Given the description of an element on the screen output the (x, y) to click on. 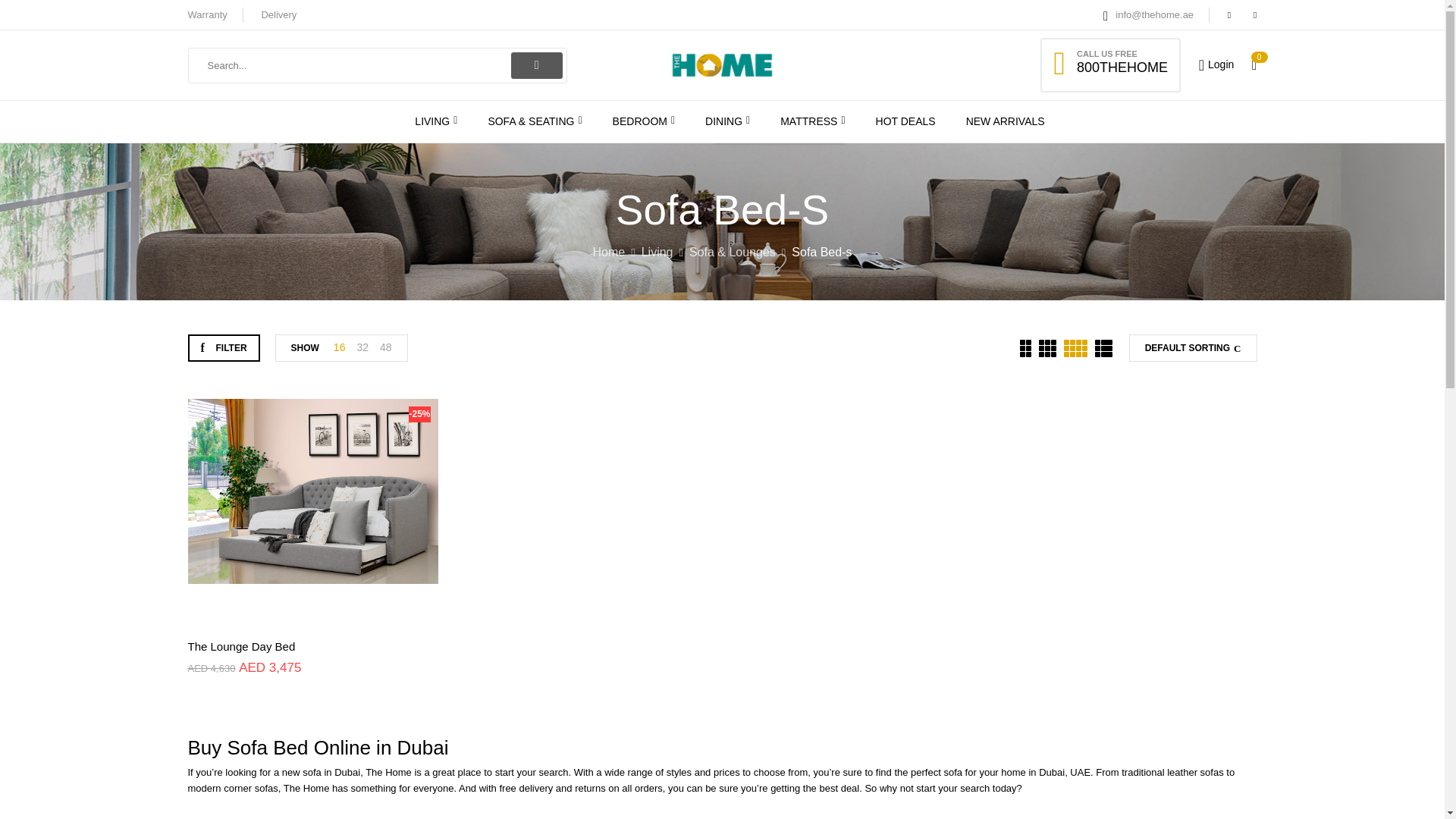
Warranty (207, 14)
BEDROOM (643, 121)
800THEHOME (1122, 67)
Delivery (278, 14)
search (536, 64)
LIVING (435, 121)
